Given the description of an element on the screen output the (x, y) to click on. 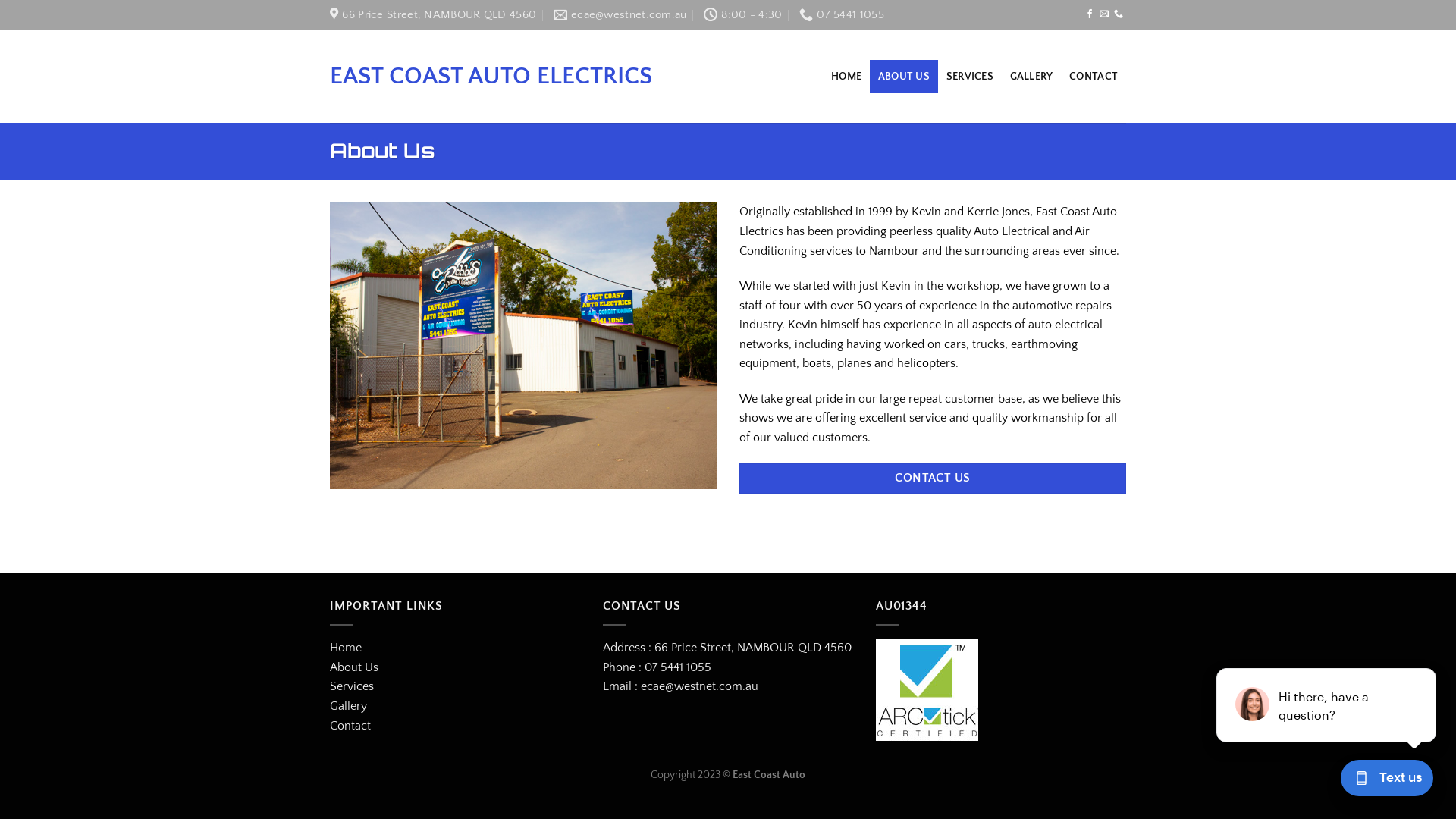
HOME Element type: text (845, 75)
ecae@westnet.com.au Element type: text (699, 686)
CONTACT US Element type: text (932, 477)
CONTACT Element type: text (1093, 75)
Services Element type: text (351, 686)
EAST COAST AUTO ELECTRICS Element type: text (510, 75)
ABOUT US Element type: text (903, 75)
8:00 - 4:30 Element type: text (742, 14)
Send us an email Element type: hover (1103, 14)
ecae@westnet.com.au Element type: text (620, 14)
GALLERY Element type: text (1031, 75)
SERVICES Element type: text (969, 75)
Call us Element type: hover (1118, 14)
Contact Element type: text (349, 726)
07 5441 1055 Element type: text (676, 667)
Follow on Facebook Element type: hover (1089, 14)
Gallery Element type: text (348, 706)
66 Price Street, NAMBOUR QLD 4560 Element type: text (432, 14)
Home Element type: text (345, 648)
66 Price Street, NAMBOUR QLD 4560 Element type: text (752, 647)
07 5441 1055 Element type: text (841, 14)
About Us Element type: text (353, 667)
